Given the description of an element on the screen output the (x, y) to click on. 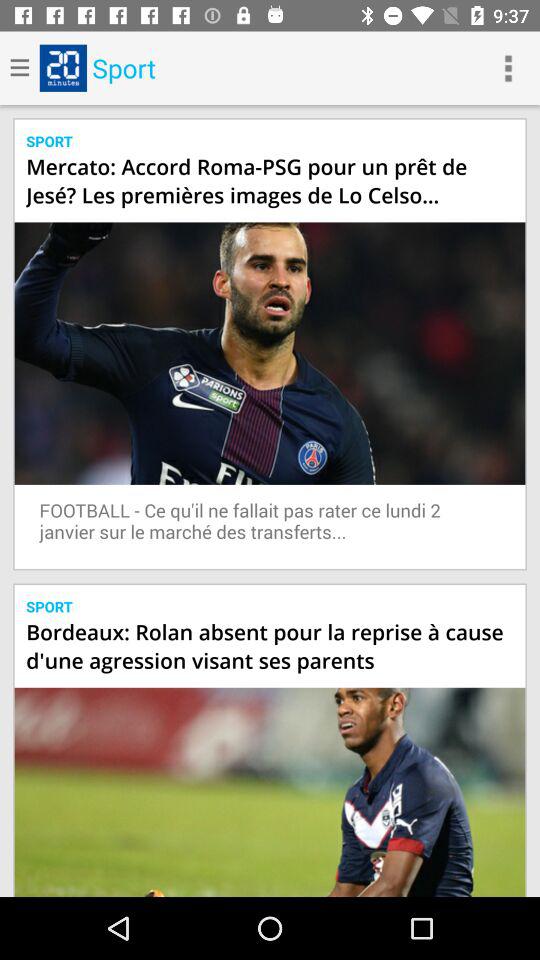
click the customized options icon (508, 68)
click on the first image of the page (269, 352)
select the button which is right to menu button (62, 68)
click on the second image (269, 792)
